Given the description of an element on the screen output the (x, y) to click on. 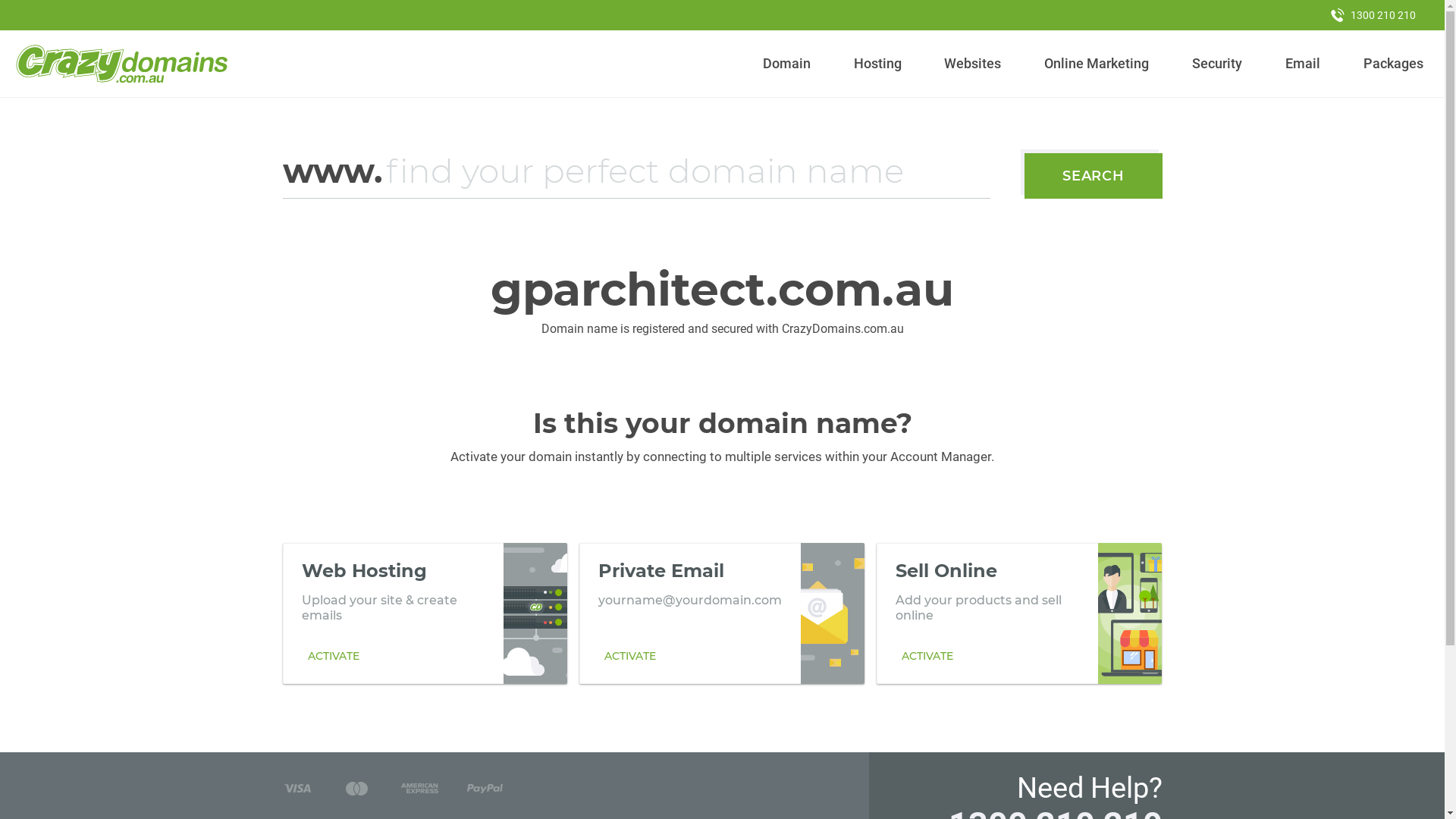
Online Marketing Element type: text (1096, 63)
Packages Element type: text (1392, 63)
SEARCH Element type: text (1092, 175)
Domain Element type: text (786, 63)
1300 210 210 Element type: text (1373, 15)
Web Hosting
Upload your site & create emails
ACTIVATE Element type: text (424, 613)
Email Element type: text (1302, 63)
Private Email
yourname@yourdomain.com
ACTIVATE Element type: text (721, 613)
Hosting Element type: text (877, 63)
Websites Element type: text (972, 63)
Sell Online
Add your products and sell online
ACTIVATE Element type: text (1018, 613)
Security Element type: text (1217, 63)
